Given the description of an element on the screen output the (x, y) to click on. 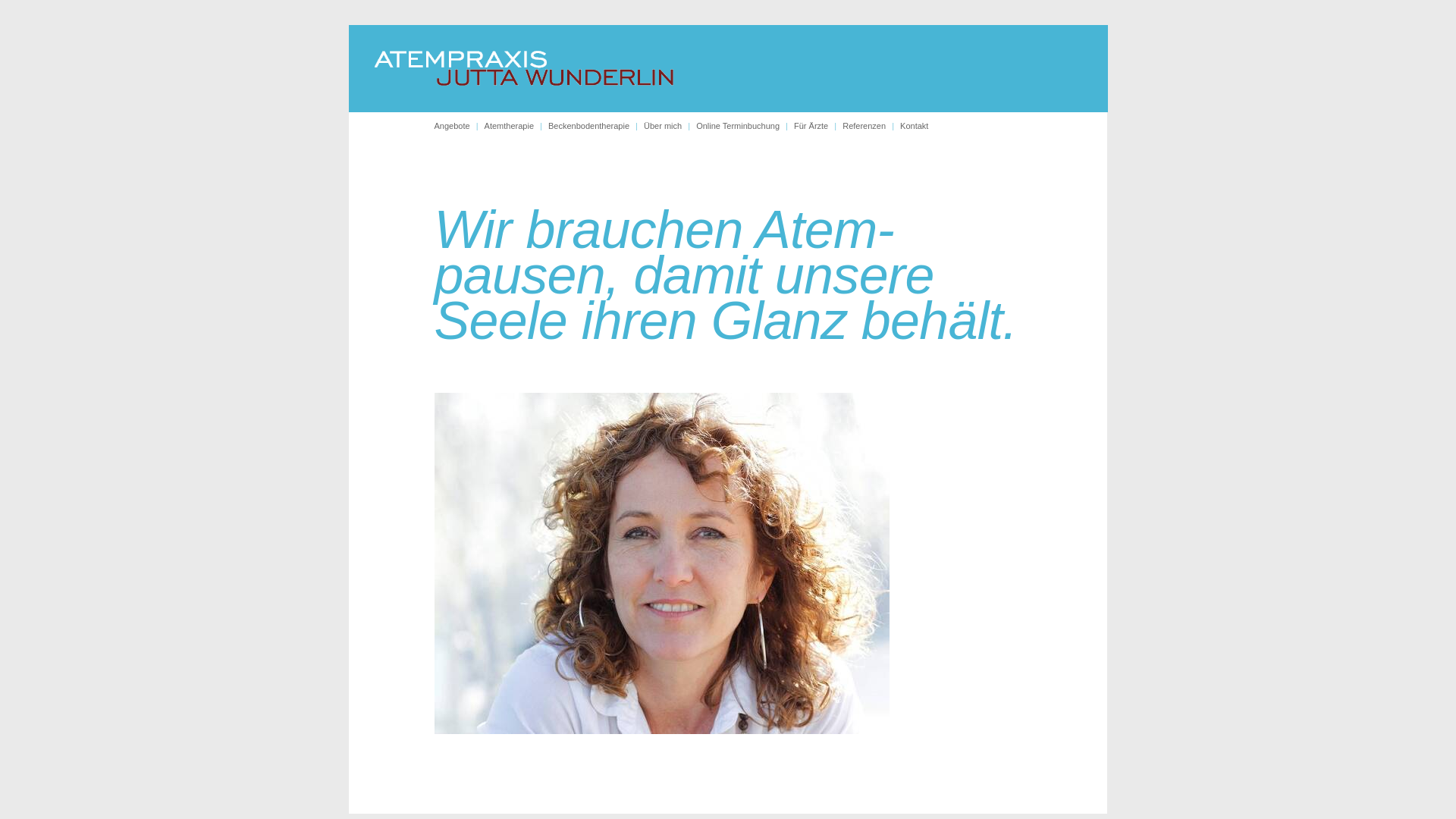
Beckenbodentherapie |  Element type: text (595, 125)
Online Terminbuchung |  Element type: text (744, 125)
Angebote |  Element type: text (458, 125)
Atemtherapie |  Element type: text (516, 125)
Kontakt Element type: text (914, 125)
Referenzen |  Element type: text (871, 125)
